Given the description of an element on the screen output the (x, y) to click on. 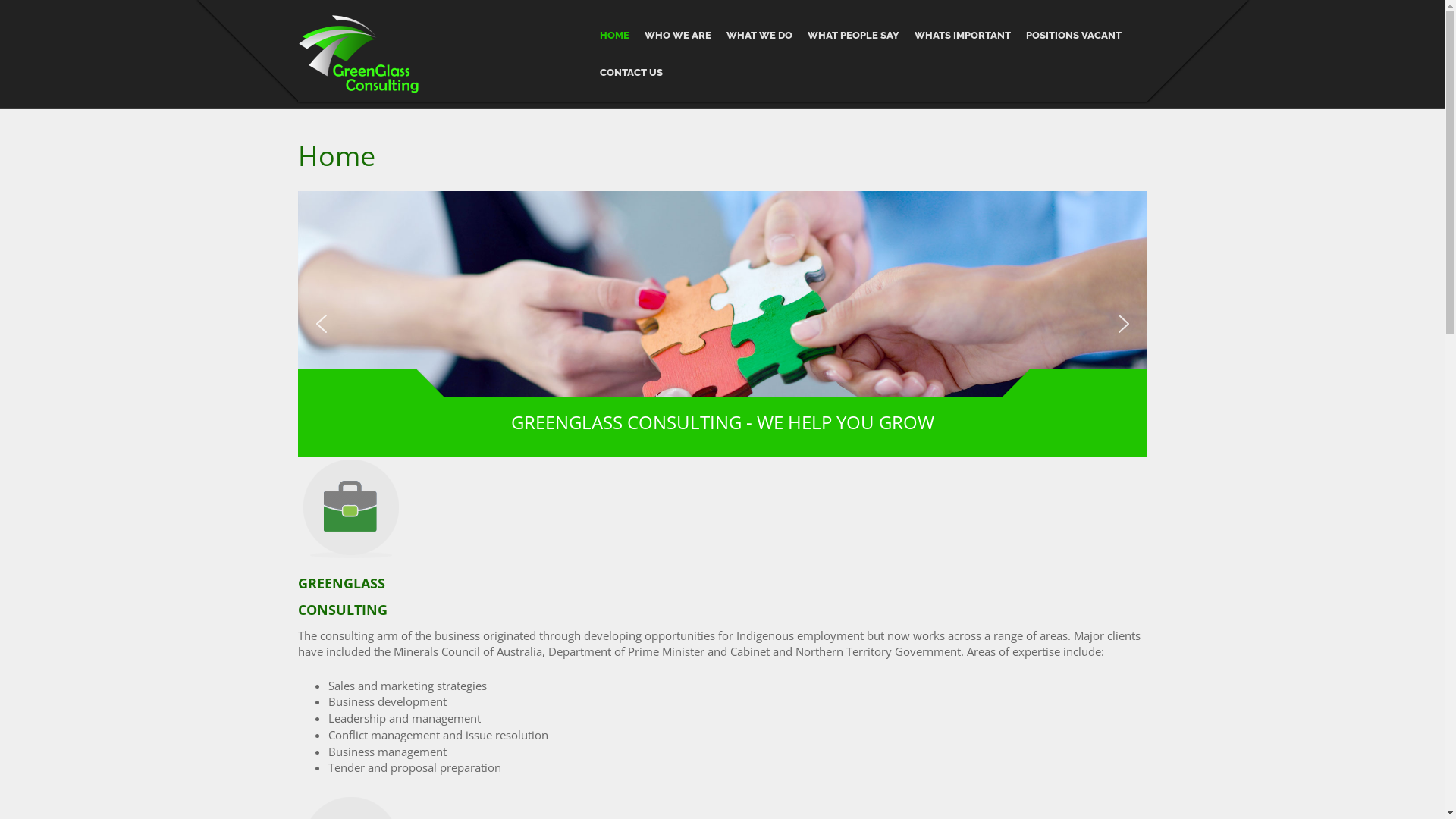
GREENGLASS CONSULTING - WE HELP YOU GROW Element type: text (721, 426)
POSITIONS VACANT Element type: text (1073, 35)
WHO WE ARE Element type: text (677, 35)
CONTACT US Element type: text (631, 72)
WHAT WE DO Element type: text (759, 35)
WHAT PEOPLE SAY Element type: text (853, 35)
HOME Element type: text (614, 35)
WHATS IMPORTANT Element type: text (962, 35)
